Given the description of an element on the screen output the (x, y) to click on. 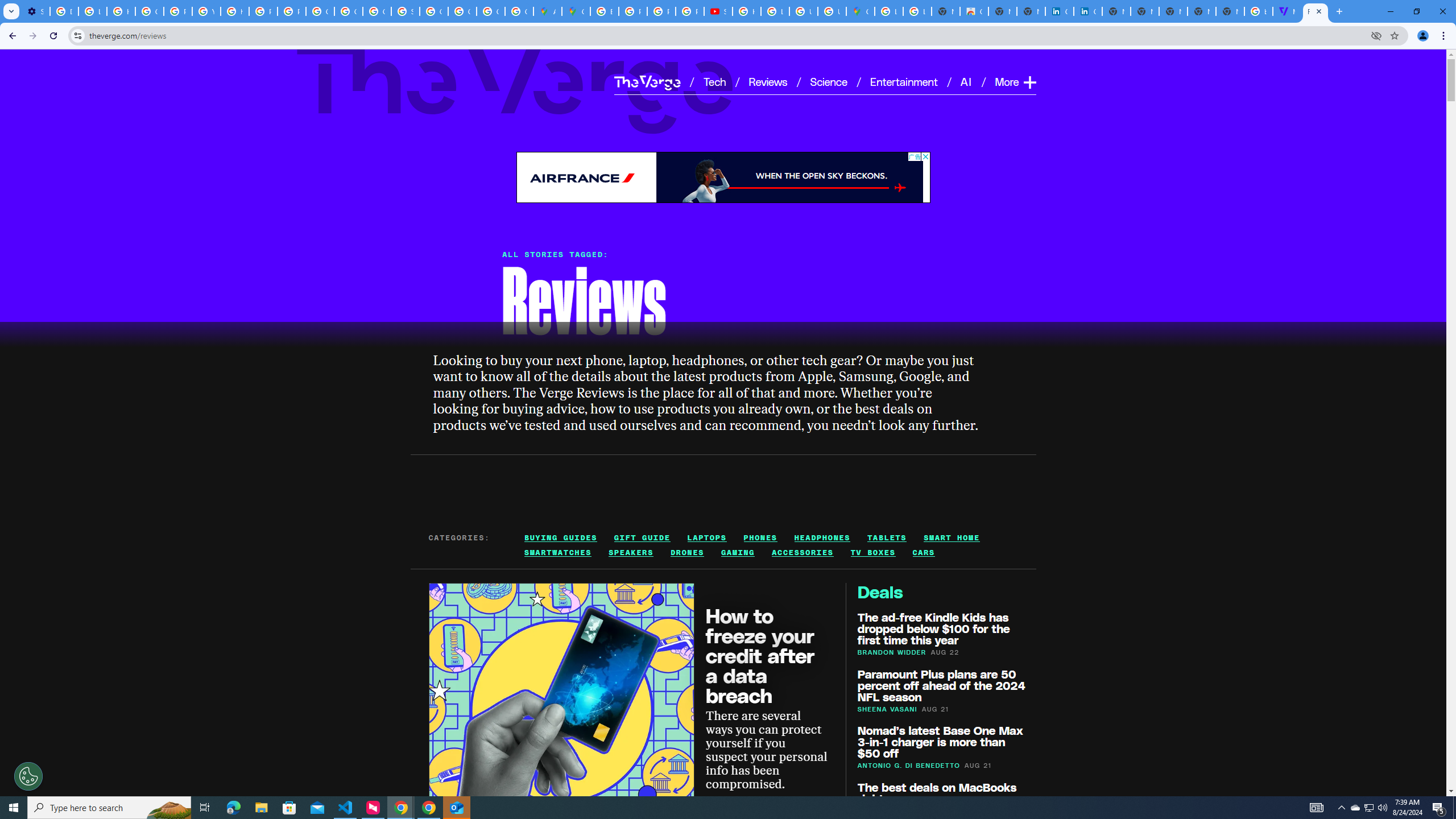
Open Preferences (28, 776)
Blogger Policies and Guidelines - Transparency Center (604, 11)
LAPTOPS (706, 537)
YouTube (206, 11)
Cookie Policy | LinkedIn (1058, 11)
Privacy Help Center - Policies Help (178, 11)
